Given the description of an element on the screen output the (x, y) to click on. 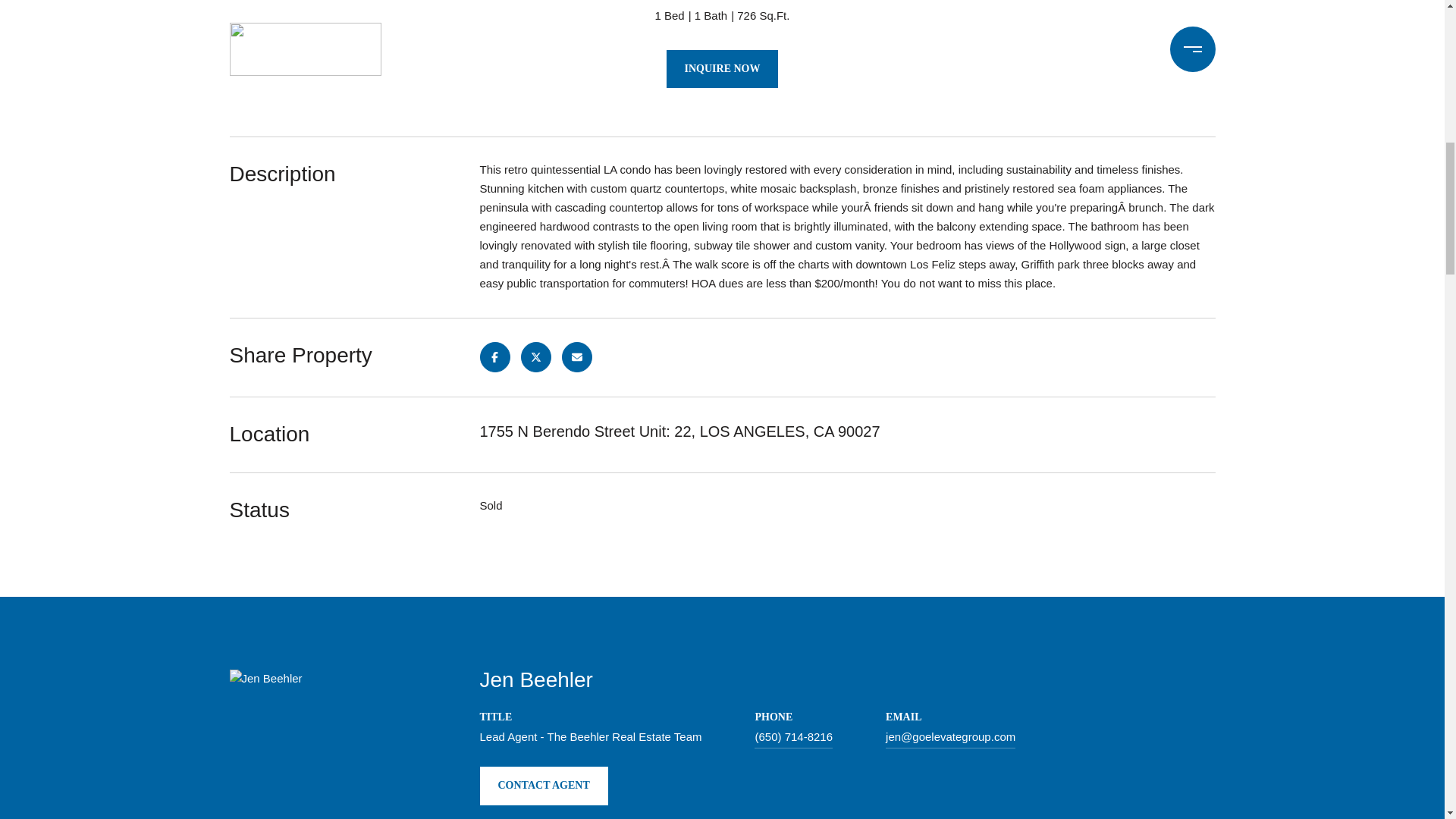
INQUIRE NOW (722, 68)
CONTACT AGENT (543, 785)
